Given the description of an element on the screen output the (x, y) to click on. 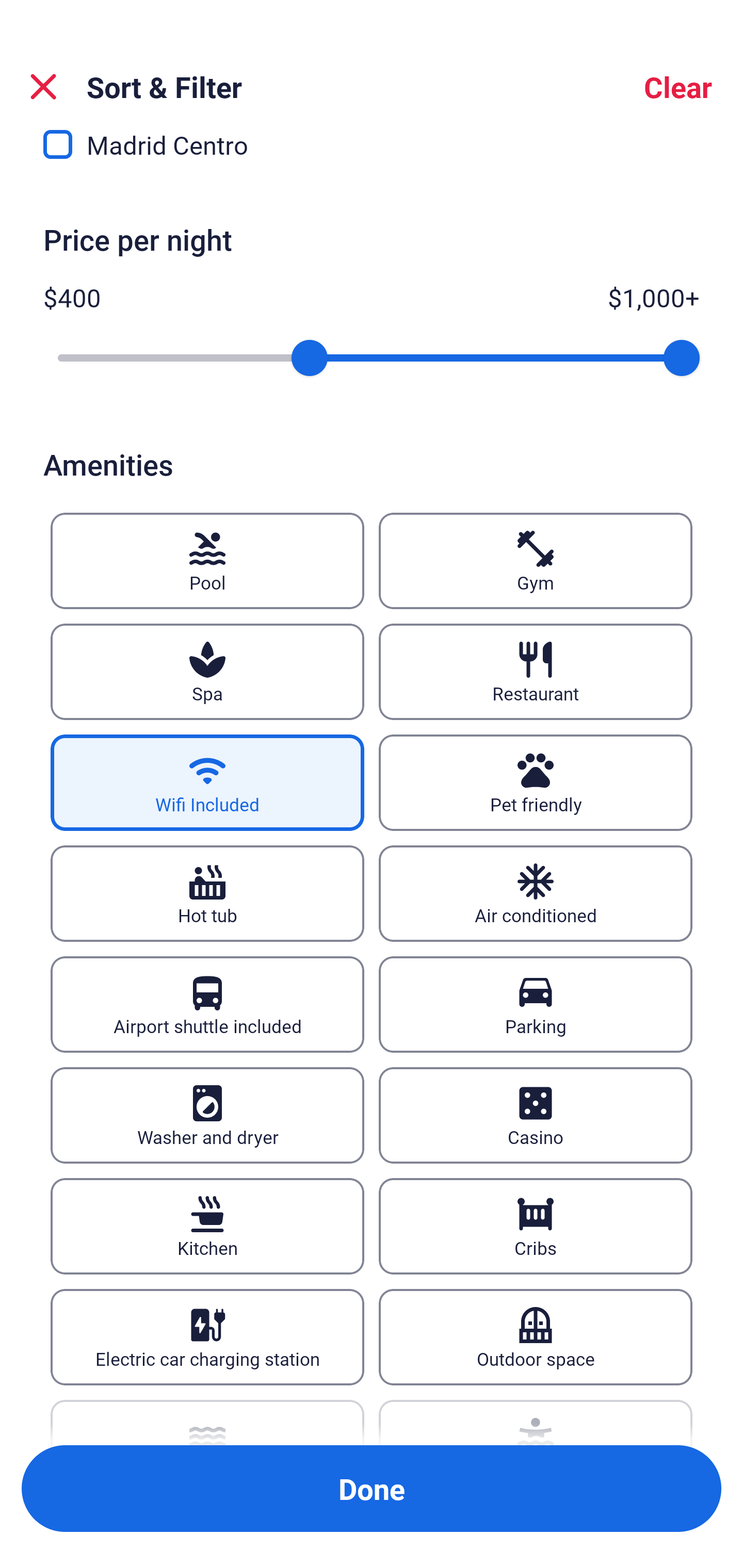
Close Sort and Filter (43, 86)
Clear (677, 86)
Madrid Centro, Madrid Centro (371, 159)
Pool (207, 560)
Gym (535, 560)
Spa (207, 671)
Restaurant (535, 671)
Wifi Included (207, 782)
Pet friendly (535, 782)
Hot tub (207, 893)
Air conditioned (535, 893)
Airport shuttle included (207, 1004)
Parking (535, 1004)
Washer and dryer (207, 1115)
Casino (535, 1115)
Kitchen (207, 1225)
Cribs (535, 1225)
Electric car charging station (207, 1337)
Outdoor space (535, 1337)
Apply and close Sort and Filter Done (371, 1488)
